Given the description of an element on the screen output the (x, y) to click on. 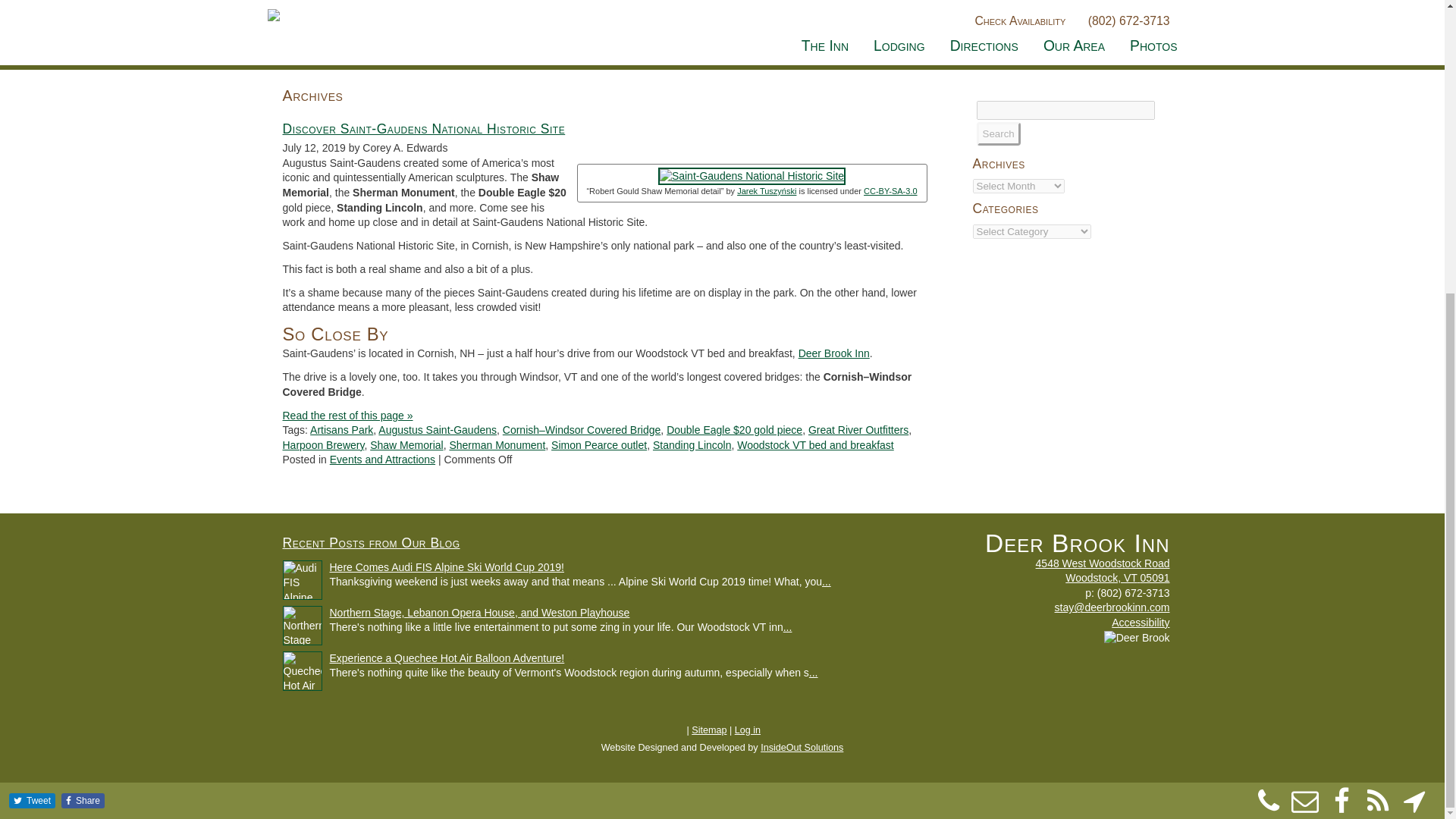
Search (998, 133)
Events and Attractions (382, 459)
Artisans Park (341, 429)
Great River Outfitters (858, 429)
CC-BY-SA-3.0 (890, 190)
Simon Pearce outlet (598, 444)
Recent Posts from Our Blog (371, 542)
Experience a Quechee Hot Air Balloon Adventure! (446, 657)
Discover Saint-Gaudens National Historic Site (423, 128)
Sherman Monument (496, 444)
Deer Brook Inn (833, 353)
Woodstock VT bed and breakfast (814, 444)
Northern Stage, Lebanon Opera House, and Weston Playhouse (478, 612)
Harpoon Brewery (323, 444)
